Given the description of an element on the screen output the (x, y) to click on. 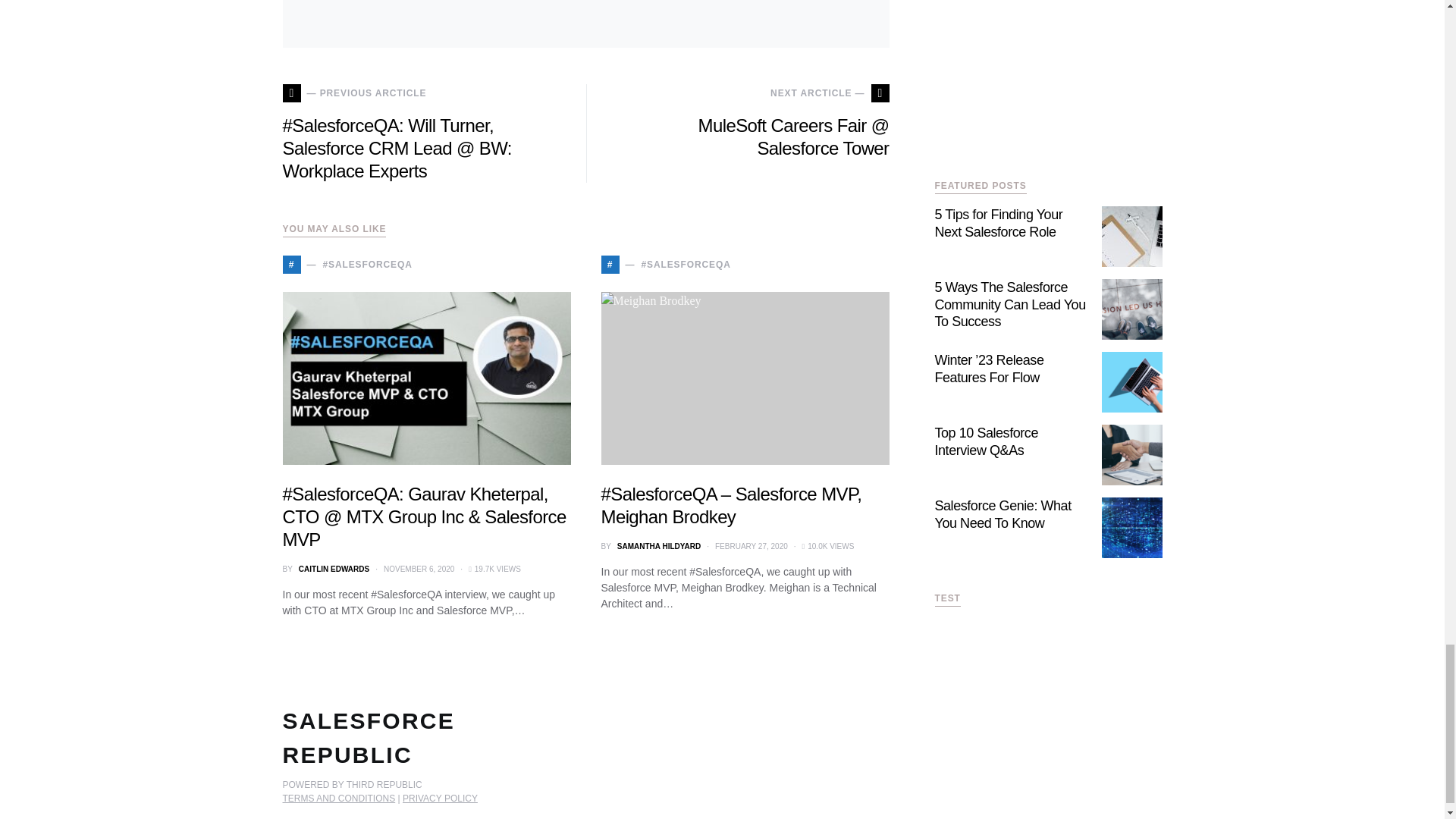
View all posts by Samantha Hildyard (658, 546)
View all posts by Caitlin Edwards (333, 568)
